Given the description of an element on the screen output the (x, y) to click on. 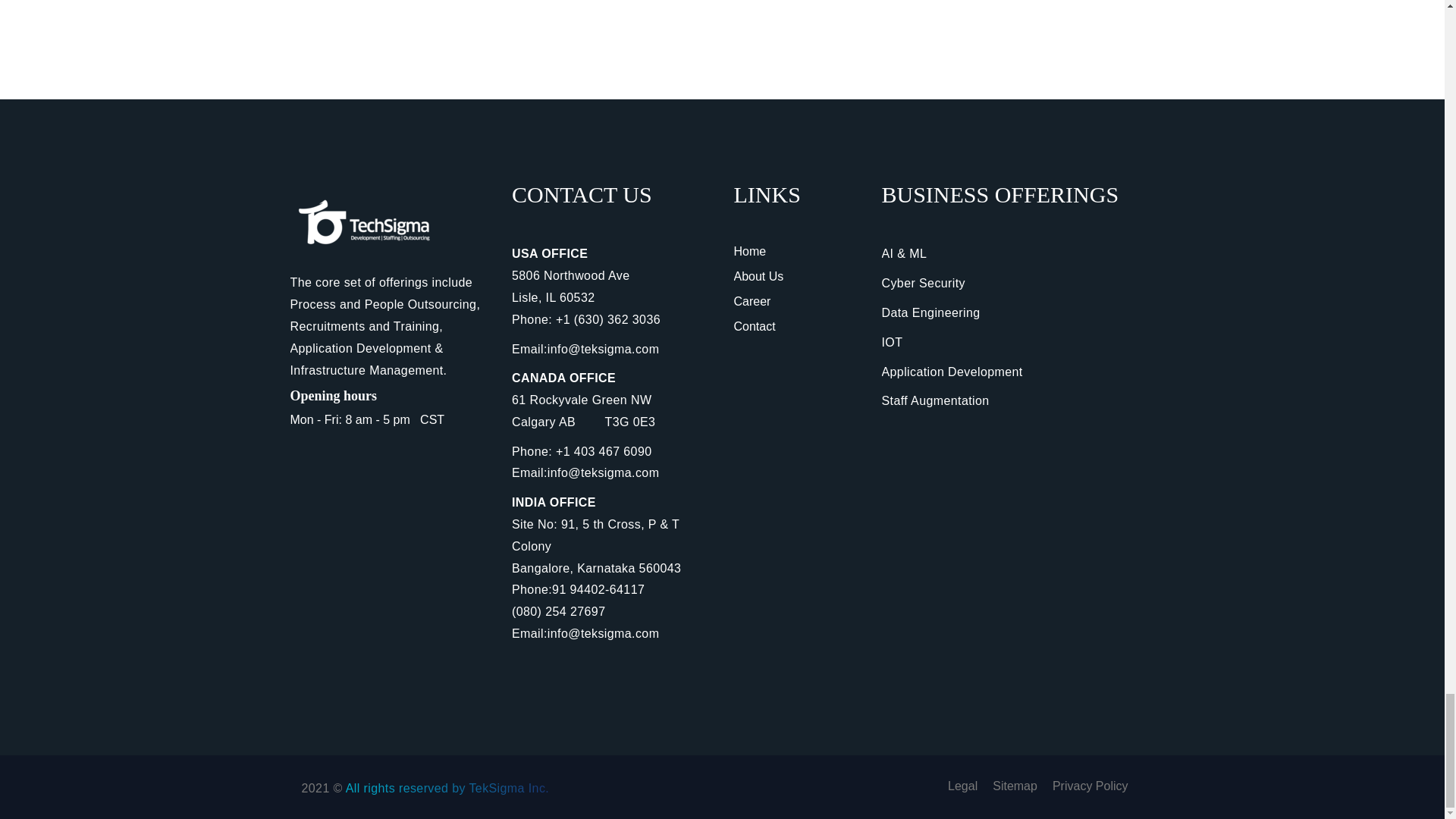
Privacy Policy (1090, 785)
About Us (758, 276)
Legal (961, 785)
Cyber Security (922, 282)
Sitemap (1014, 785)
Data Engineering (929, 312)
Contact (754, 326)
All rights reserved by TekSigma Inc. (447, 788)
IOT (891, 341)
Home (750, 250)
Application Development (951, 370)
Staff Augmentation (934, 400)
Career (752, 300)
